Given the description of an element on the screen output the (x, y) to click on. 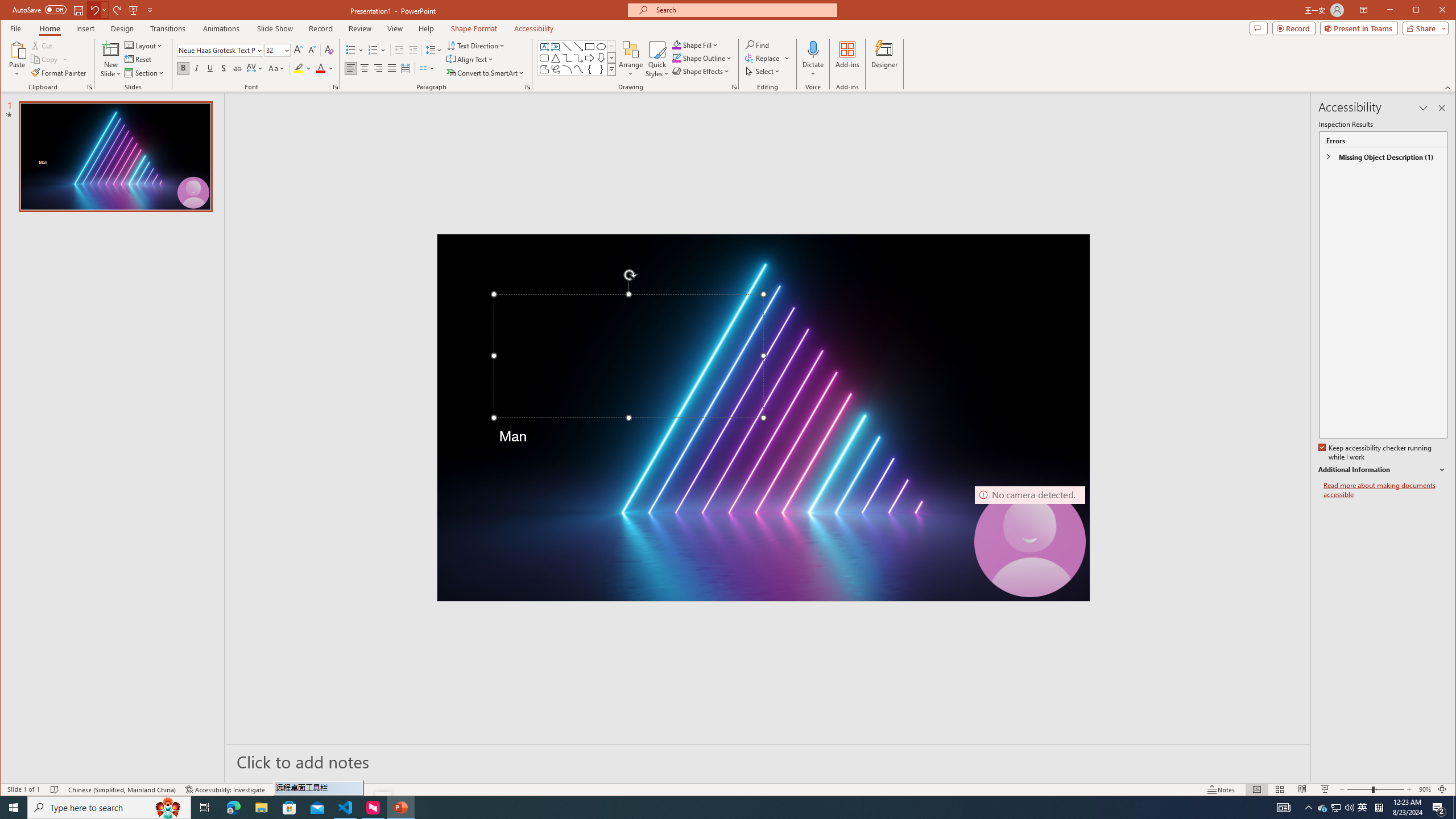
Task View (204, 807)
Line (567, 46)
Find... (758, 44)
Designer (884, 59)
Title TextBox (627, 355)
Numbering (376, 49)
